Given the description of an element on the screen output the (x, y) to click on. 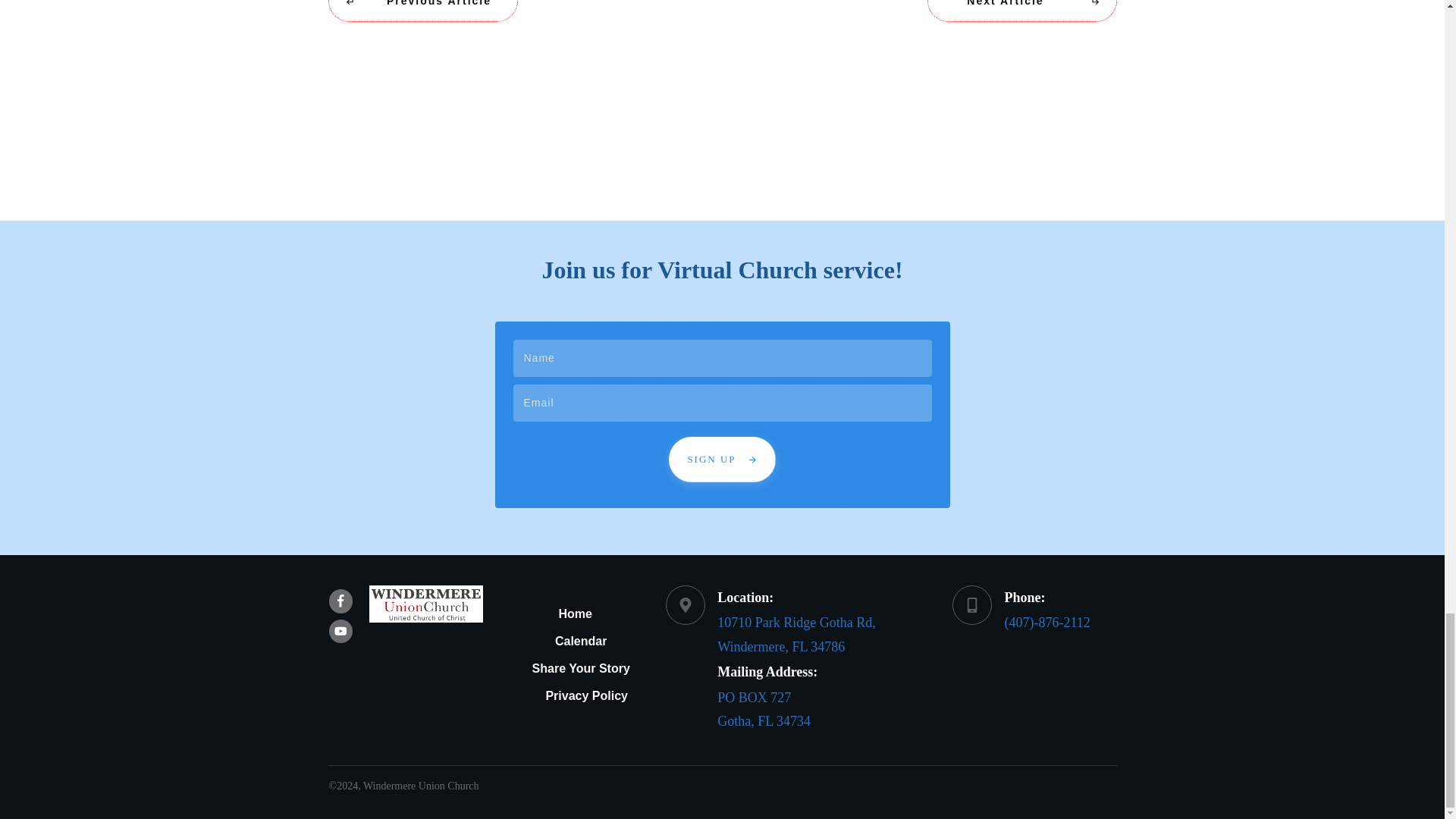
Previous Article (421, 11)
SIGN UP (721, 459)
Next Article (1021, 11)
